Given the description of an element on the screen output the (x, y) to click on. 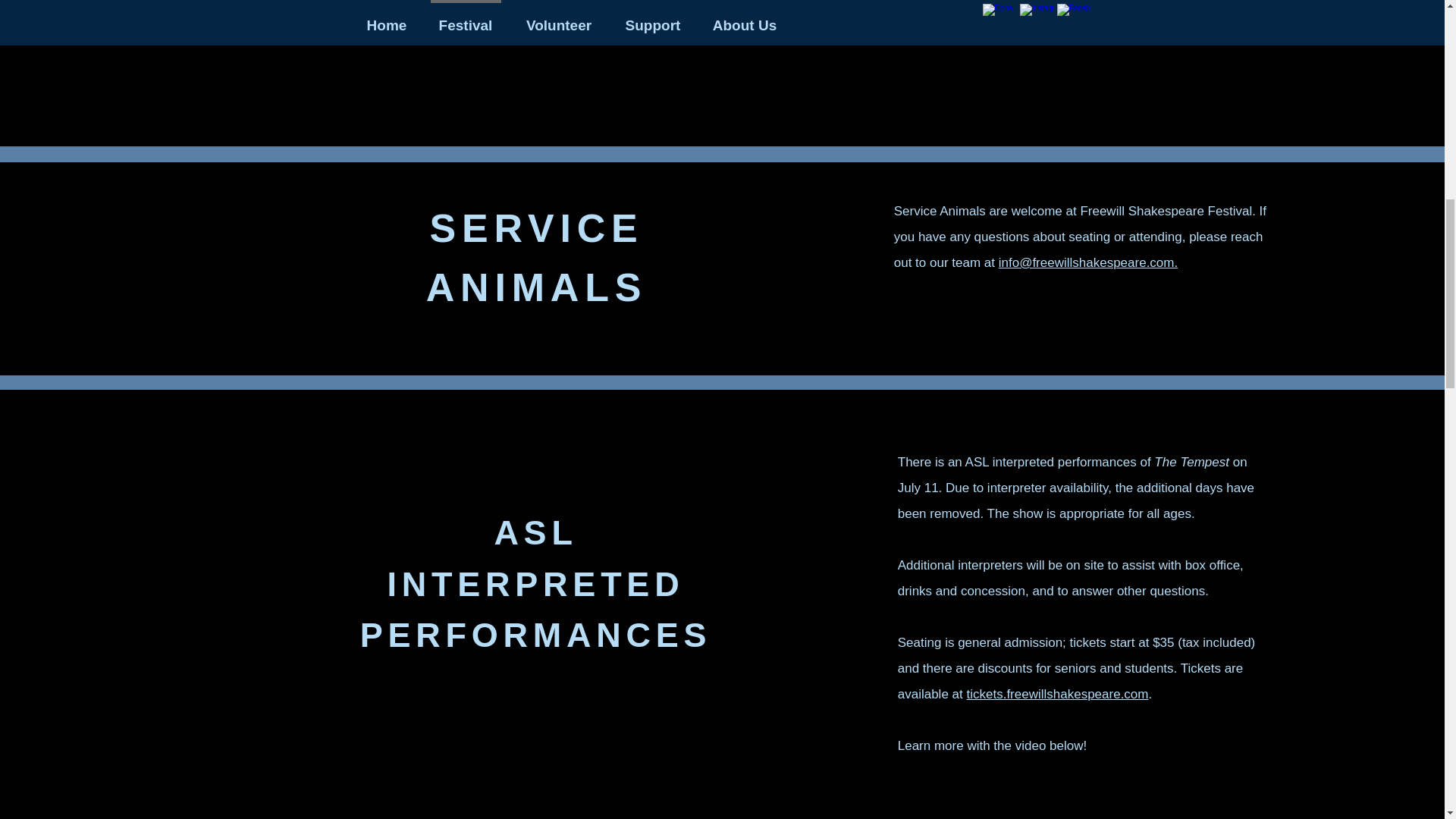
tickets.freewillshakespeare.com (1057, 694)
